Given the description of an element on the screen output the (x, y) to click on. 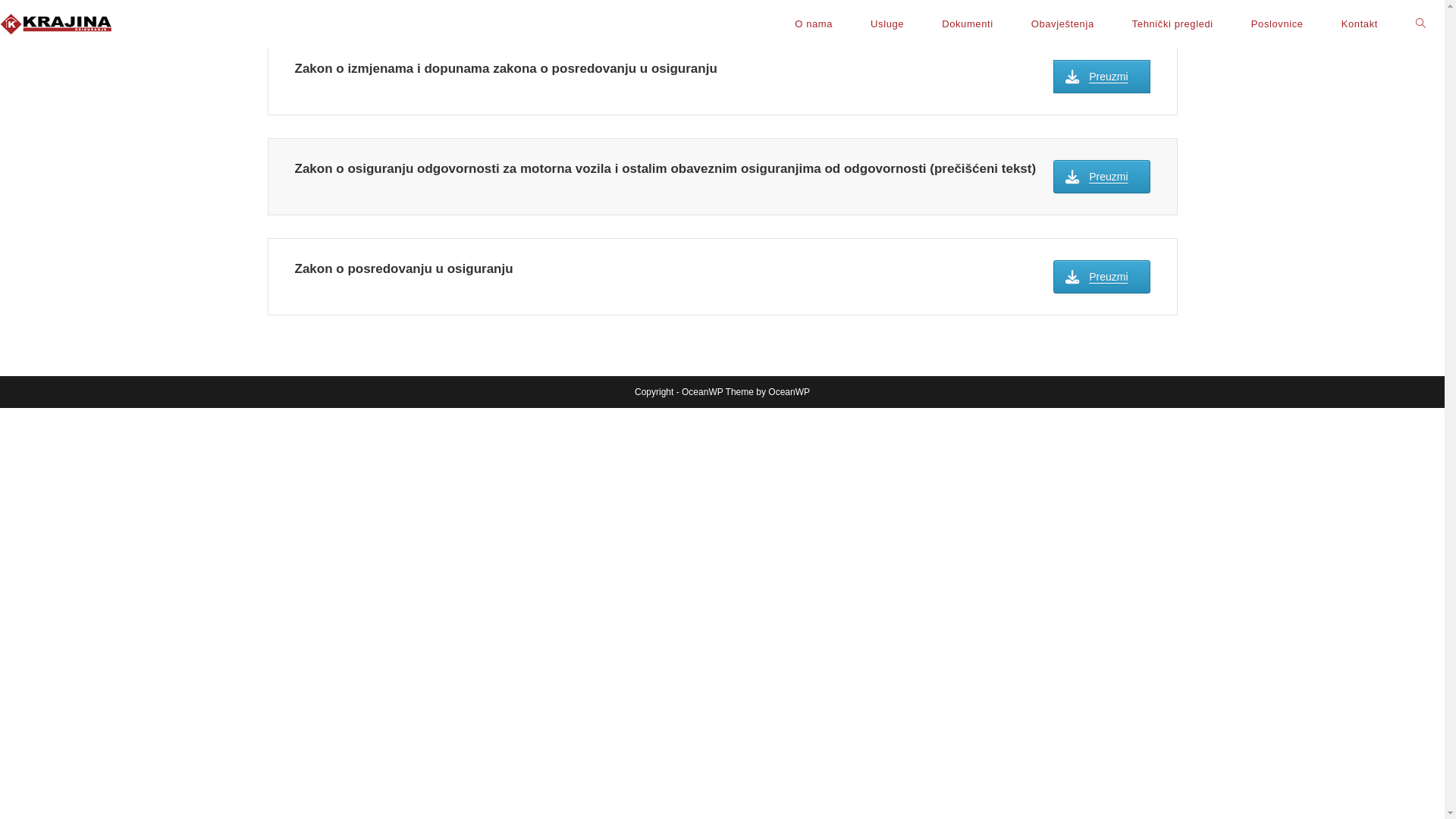
Dokumenti Element type: text (967, 24)
Preuzmi Element type: text (1101, 76)
Kontakt Element type: text (1359, 24)
Preuzmi Element type: text (1101, 176)
Toggle website search Element type: text (1420, 24)
Usluge Element type: text (886, 24)
O nama Element type: text (813, 24)
Preuzmi Element type: text (1101, 276)
Poslovnice Element type: text (1277, 24)
